Given the description of an element on the screen output the (x, y) to click on. 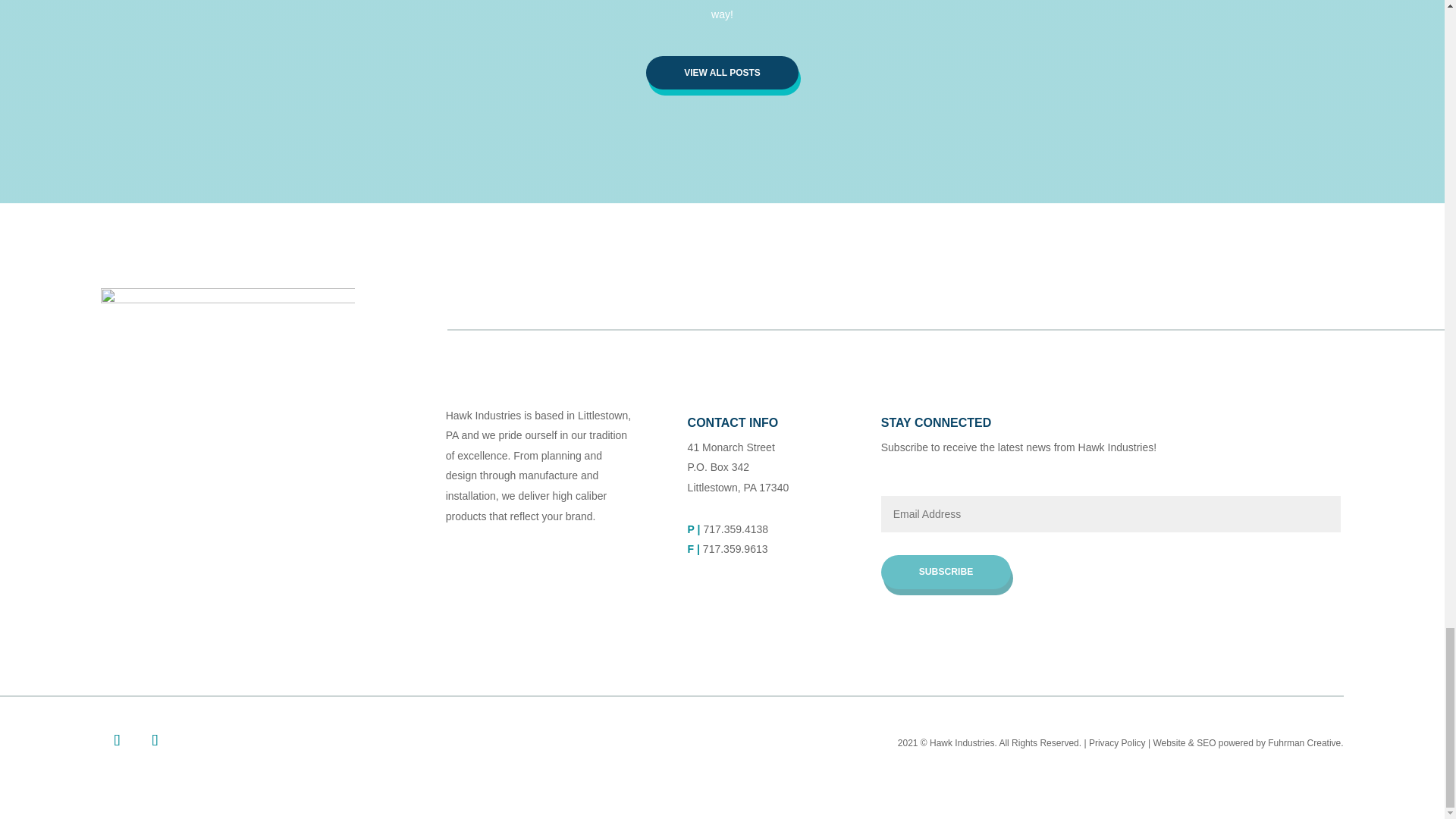
Follow on LinkedIn (154, 739)
VIEW ALL POSTS (721, 72)
HawkIndustries-MainLogo-Horizontal-Rendered-2048x768 (227, 337)
Subscribe (945, 571)
717.359.4138 (735, 529)
Subscribe (945, 571)
Follow on Facebook (116, 739)
Fuhrman Creative (1304, 742)
Privacy Policy (1117, 742)
